Given the description of an element on the screen output the (x, y) to click on. 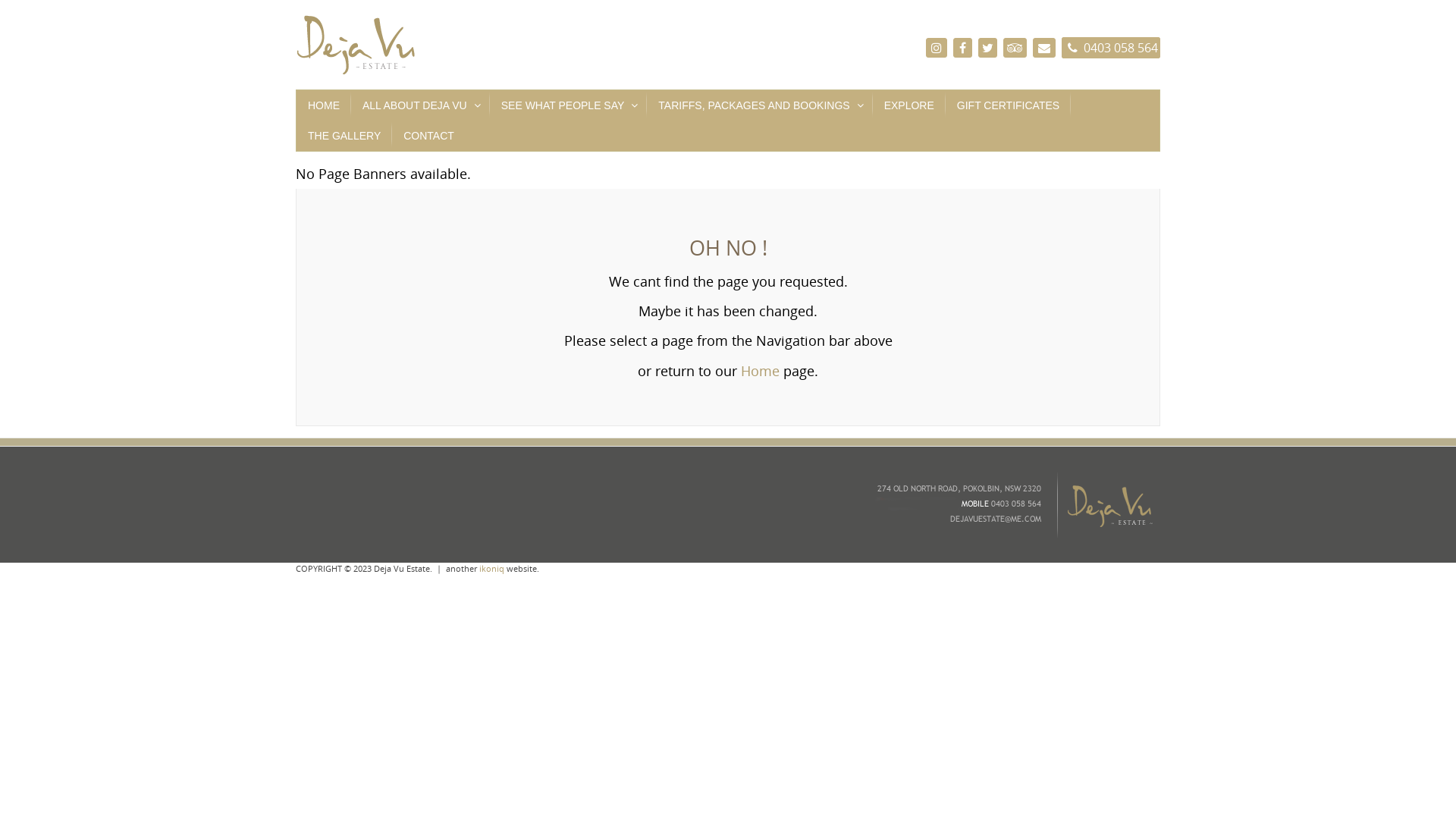
0403 058 564 Element type: text (1110, 47)
SEE WHAT PEOPLE SAY Element type: text (568, 105)
EXPLORE Element type: text (908, 105)
ikoniq Element type: text (491, 568)
TARIFFS, PACKAGES AND BOOKINGS Element type: text (759, 105)
ALL ABOUT DEJA VU Element type: text (420, 105)
THE GALLERY Element type: text (344, 135)
HOME Element type: text (323, 105)
Home Element type: text (759, 370)
GIFT CERTIFICATES Element type: text (1007, 105)
CONTACT Element type: text (428, 135)
